Given the description of an element on the screen output the (x, y) to click on. 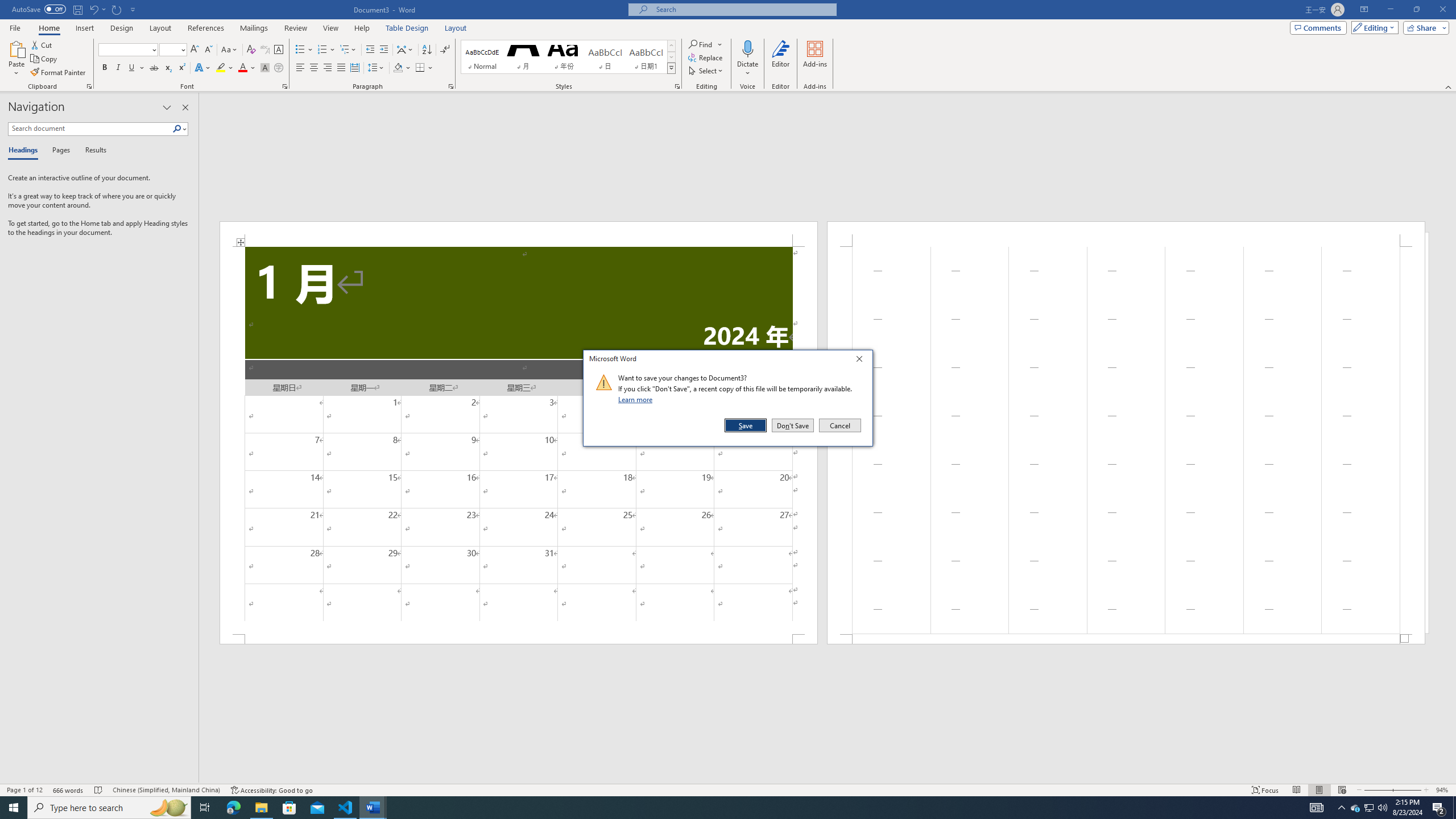
Task View (204, 807)
Insert (83, 28)
Layout (455, 28)
Start (13, 807)
Asian Layout (405, 49)
Footer -Section 1- (1126, 638)
Select (705, 69)
AutomationID: 4105 (1316, 807)
Row up (670, 45)
Customize Quick Access Toolbar (133, 9)
Zoom In (1407, 790)
